Given the description of an element on the screen output the (x, y) to click on. 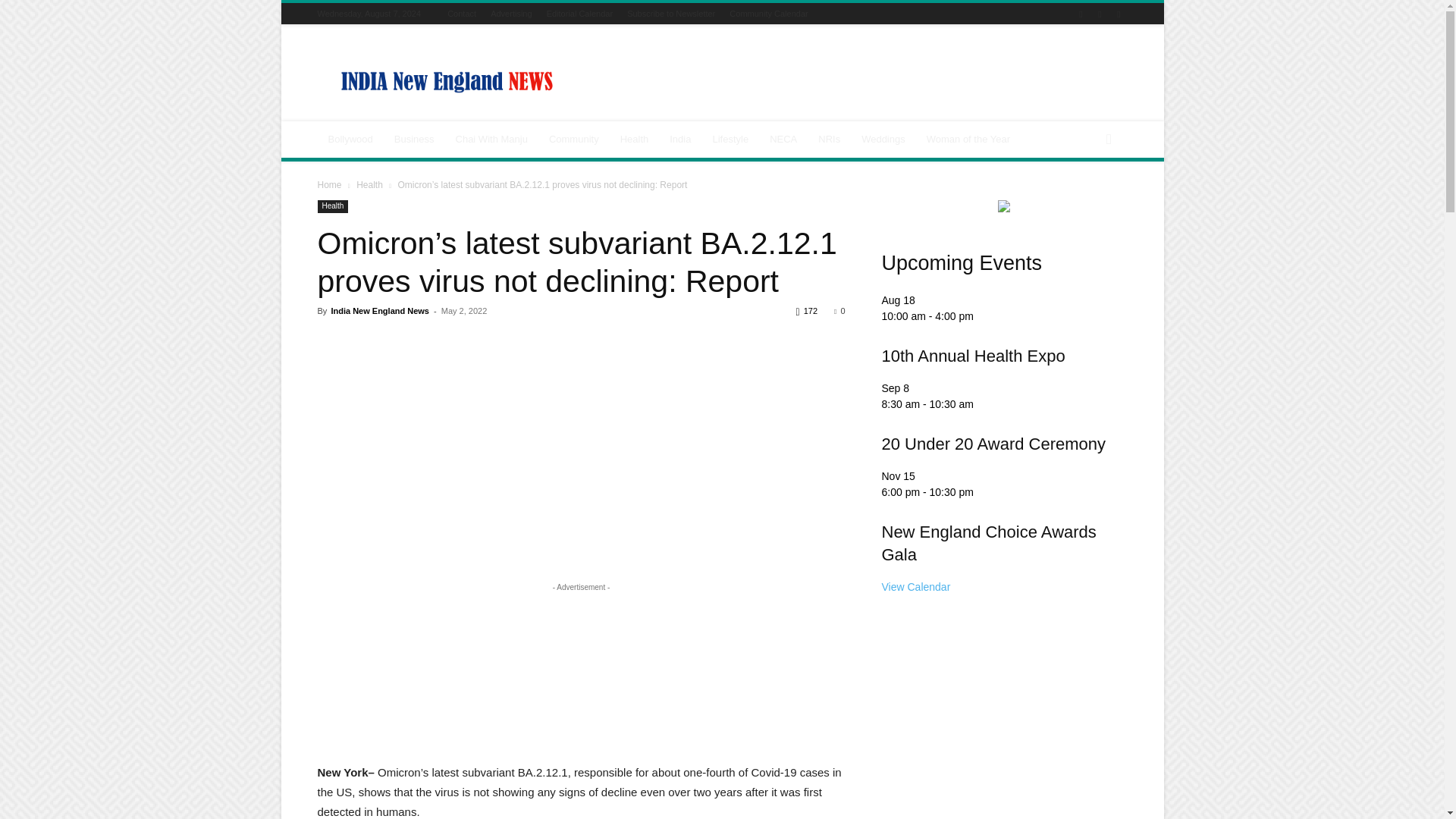
Advertising (510, 13)
NECA (783, 139)
Community Calendar (768, 13)
Business (414, 139)
Community (574, 139)
Health (634, 139)
Contact (461, 13)
NRIs (829, 139)
Woman of the Year (967, 139)
Subscribe to Newsletter (670, 13)
Chai With Manju (491, 139)
Editorial Calendar (579, 13)
Bollywood (349, 139)
India (680, 139)
Lifestyle (729, 139)
